Given the description of an element on the screen output the (x, y) to click on. 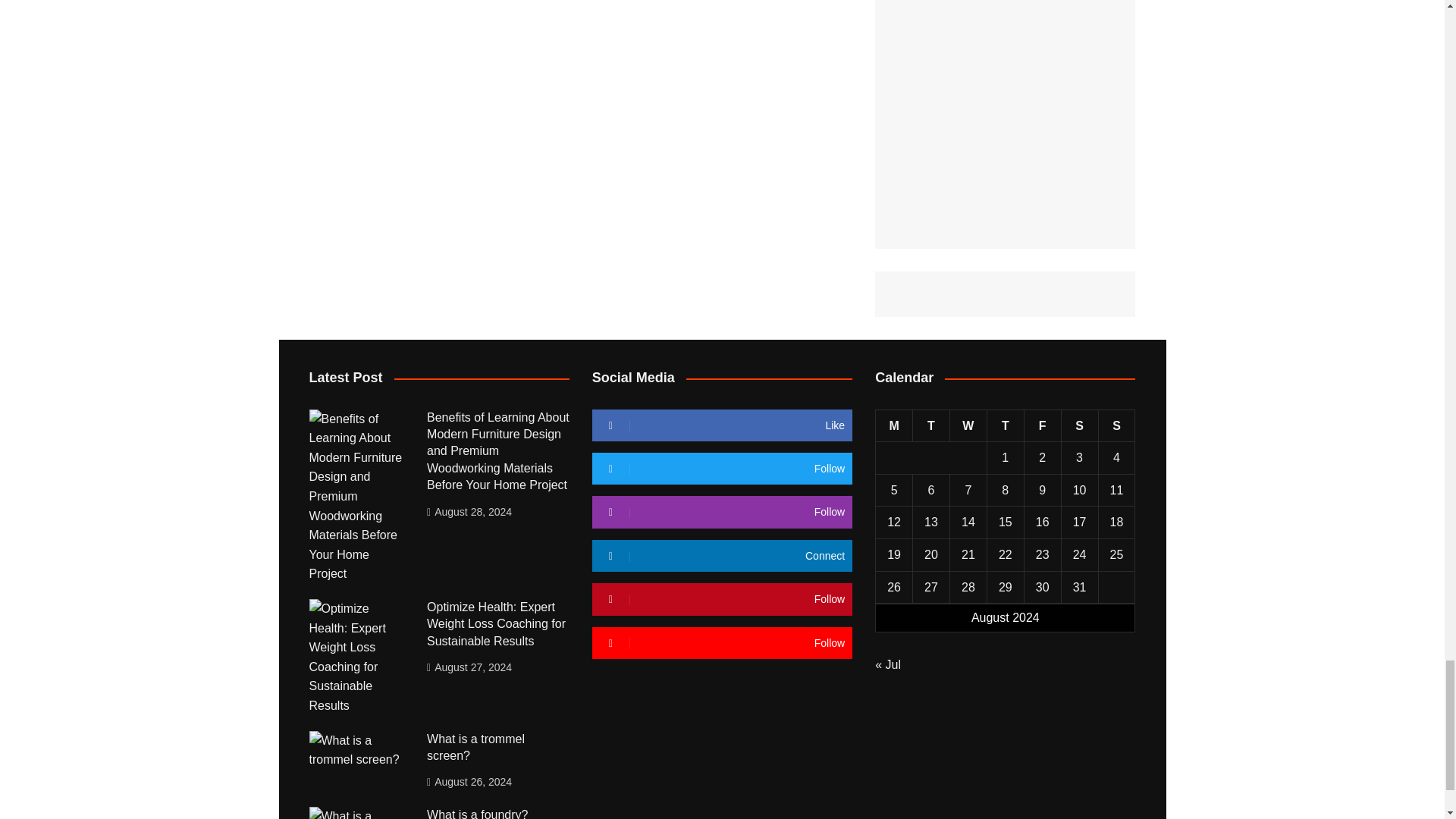
Monday (894, 425)
Friday (1042, 425)
Thursday (1005, 425)
Saturday (1079, 425)
Sunday (1116, 425)
Tuesday (931, 425)
Wednesday (968, 425)
